Given the description of an element on the screen output the (x, y) to click on. 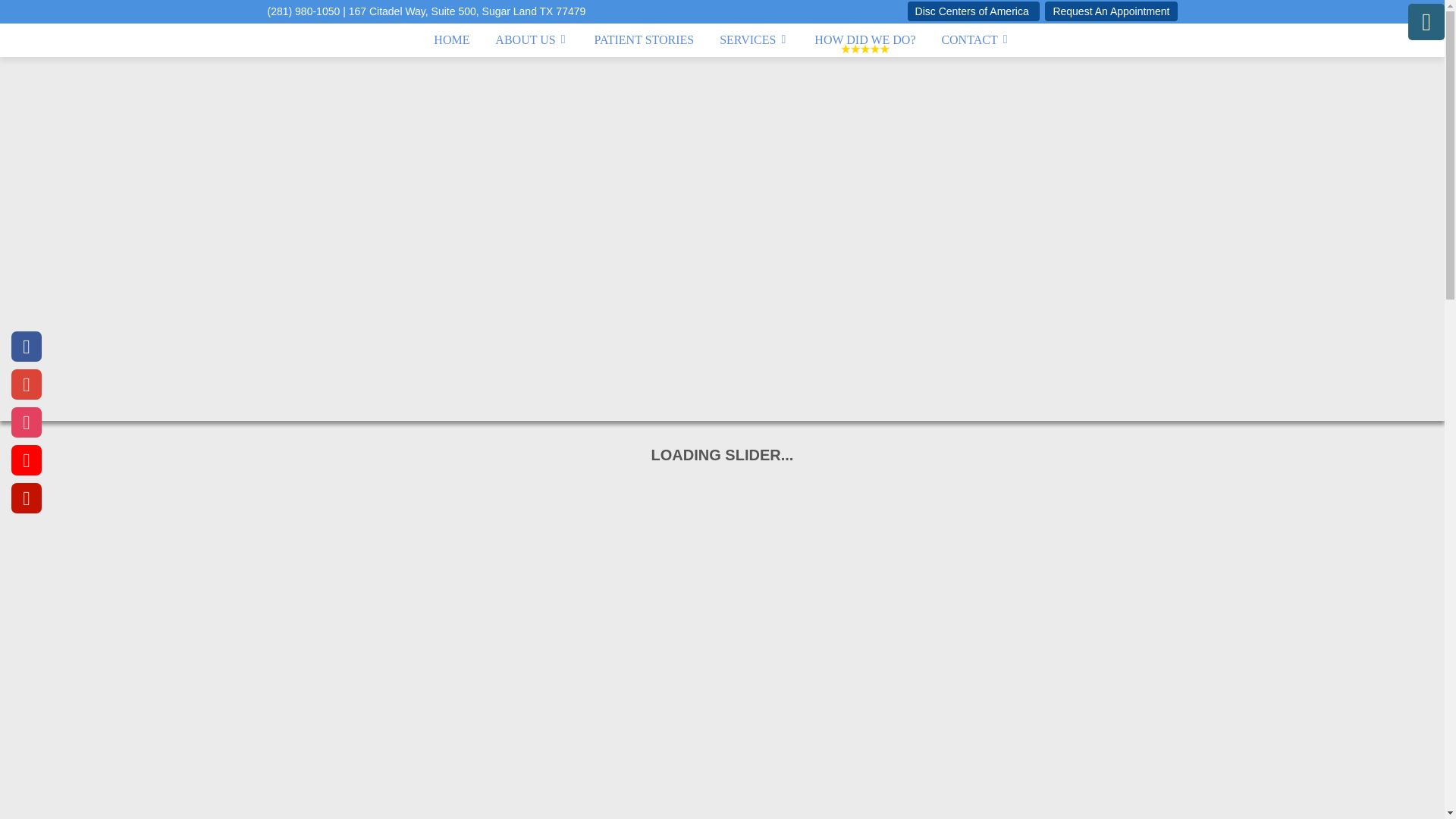
Request An Appointment (1110, 11)
CONTACT (976, 39)
PATIENT STORIES (644, 39)
SERVICES (753, 39)
HOME (451, 39)
ABOUT US (531, 39)
Disc Centers of America (973, 11)
HOW DID WE DO? (864, 39)
